Given the description of an element on the screen output the (x, y) to click on. 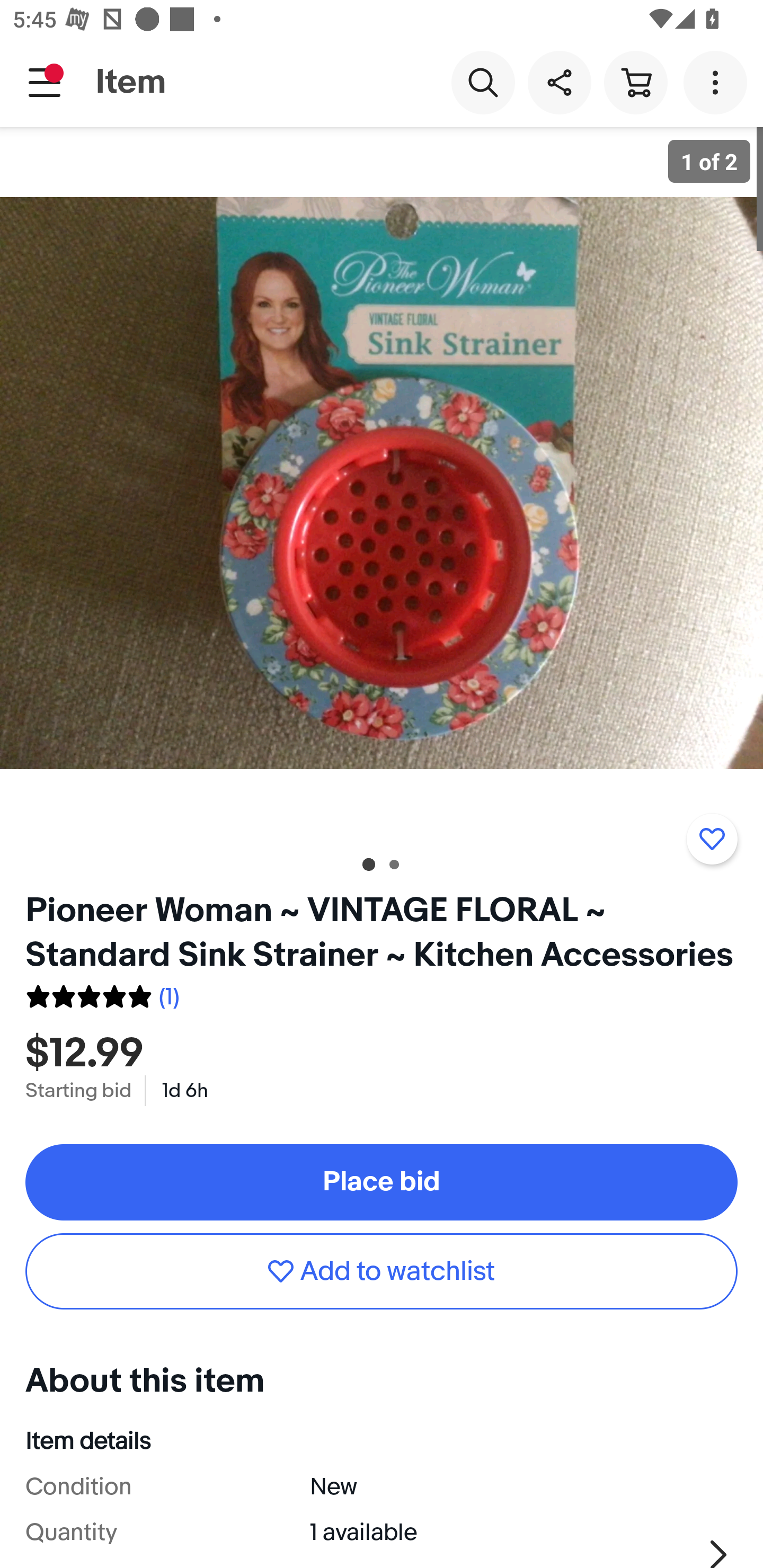
Main navigation, notification is pending, open (44, 82)
Search (482, 81)
Share this item (559, 81)
Cart button shopping cart (635, 81)
More options (718, 81)
Item image 1 of 2 (381, 482)
Add to watchlist (711, 838)
1 review. Average rating 5.0 out of five 10.0 (1) (102, 993)
Place bid (381, 1181)
Add to watchlist (381, 1270)
